Given the description of an element on the screen output the (x, y) to click on. 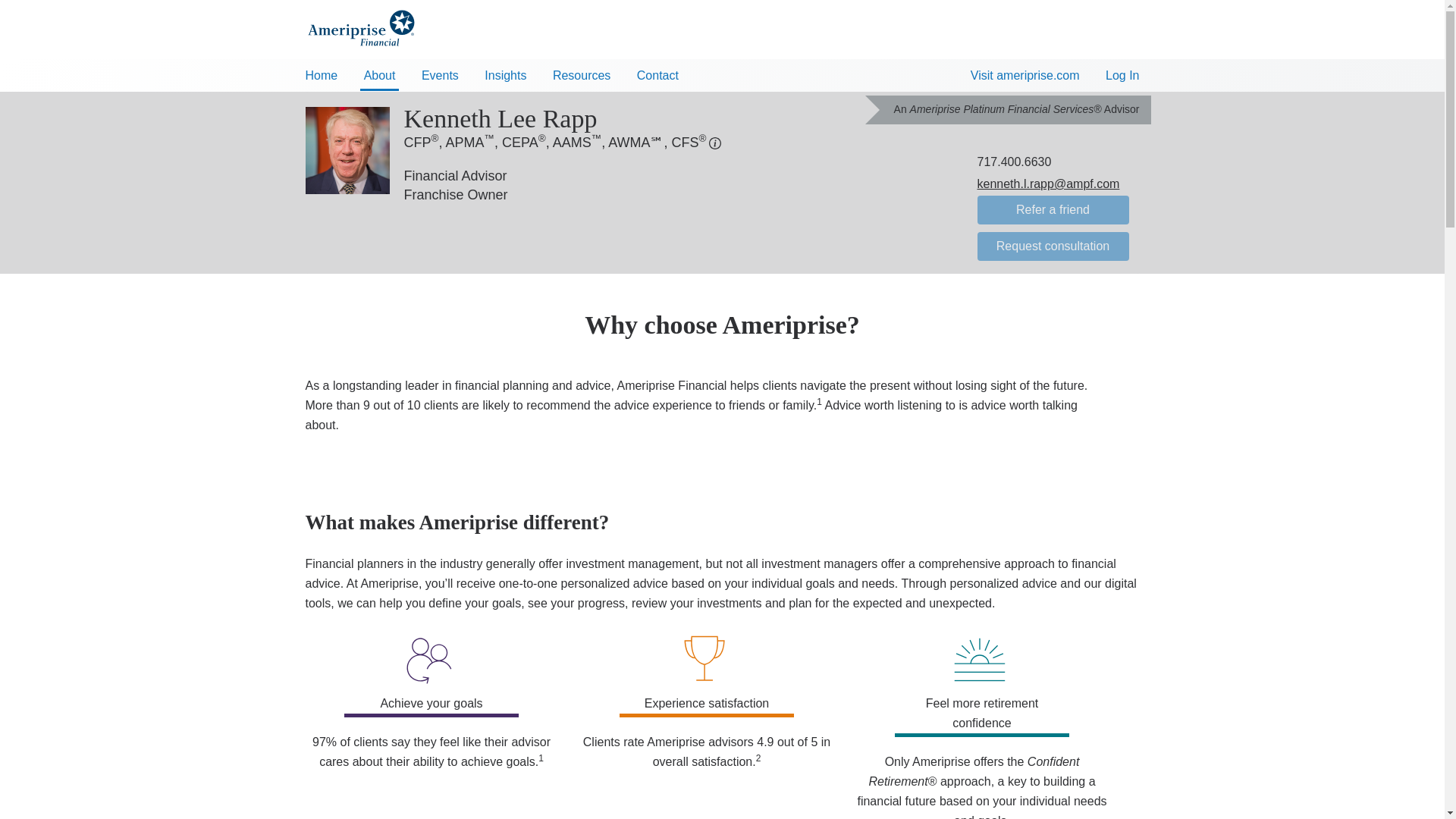
About (378, 74)
Contact (657, 73)
Visit ameriprise.com (1025, 75)
Resources (581, 73)
Events (440, 73)
Request consultation (1052, 246)
Home (321, 73)
Insights (504, 73)
Refer a friend (1052, 209)
Log In (1121, 75)
Request consultation (1052, 246)
717.400.6630 (1013, 161)
Refer a friend (1052, 209)
